Given the description of an element on the screen output the (x, y) to click on. 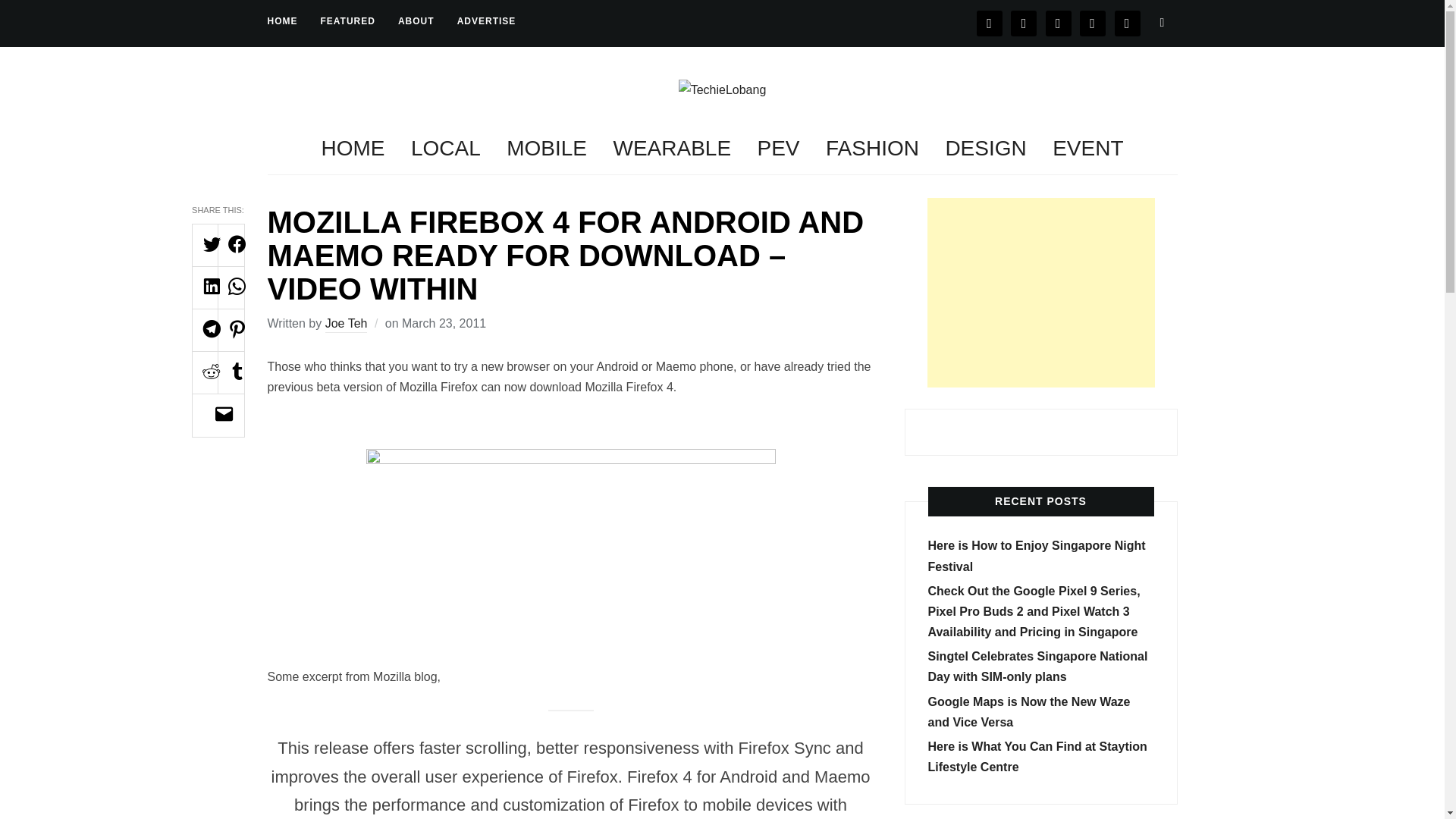
INSTAGRAM (1058, 22)
PEV (778, 148)
Search (1161, 22)
RSS (1127, 22)
Instagram (1058, 22)
MOBILE (546, 148)
Joe Teh (346, 324)
FACEBOOK (989, 22)
TWITTER (1023, 22)
LOCAL (445, 148)
